Given the description of an element on the screen output the (x, y) to click on. 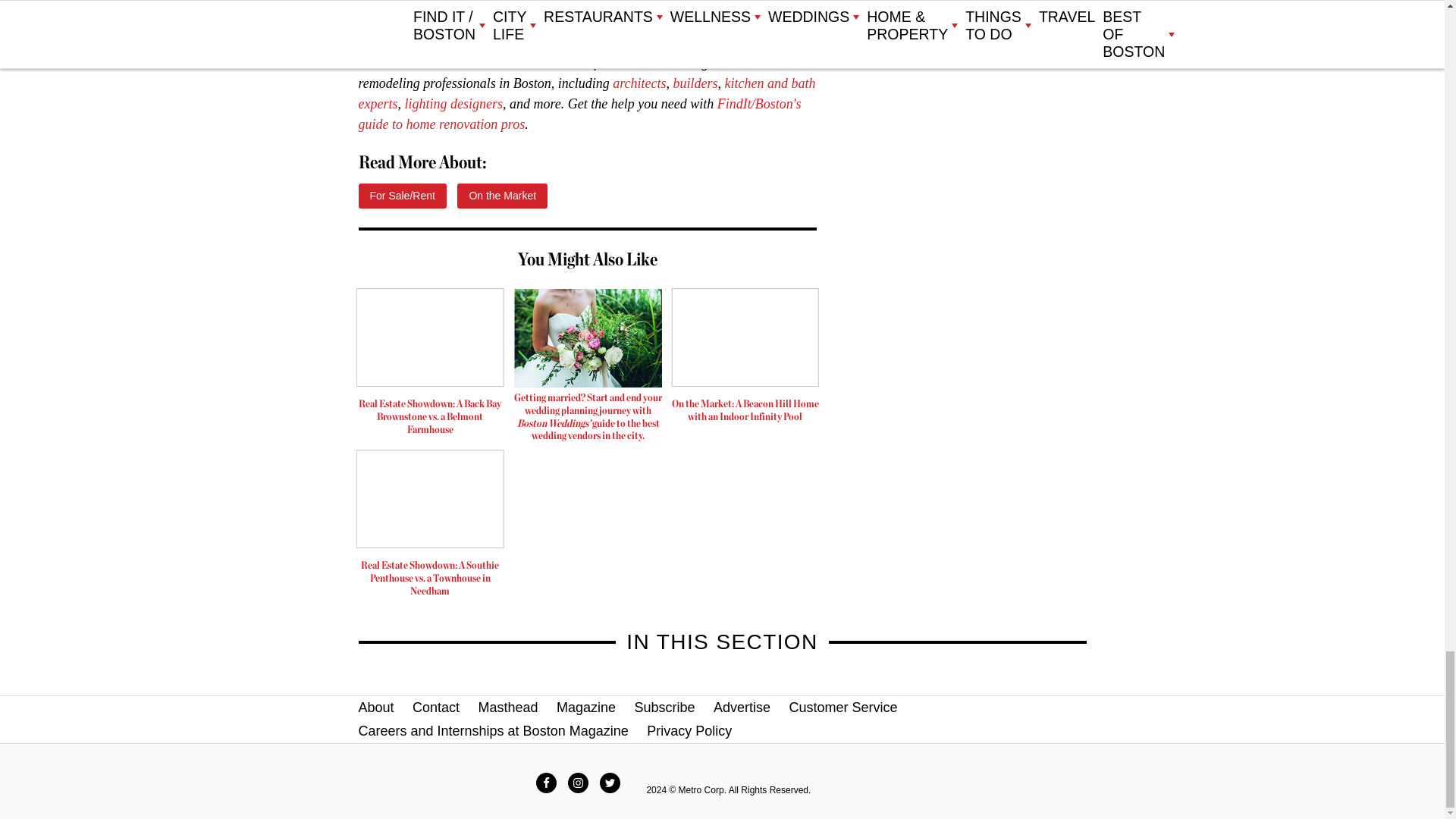
3rd party ad content (587, 368)
